Given the description of an element on the screen output the (x, y) to click on. 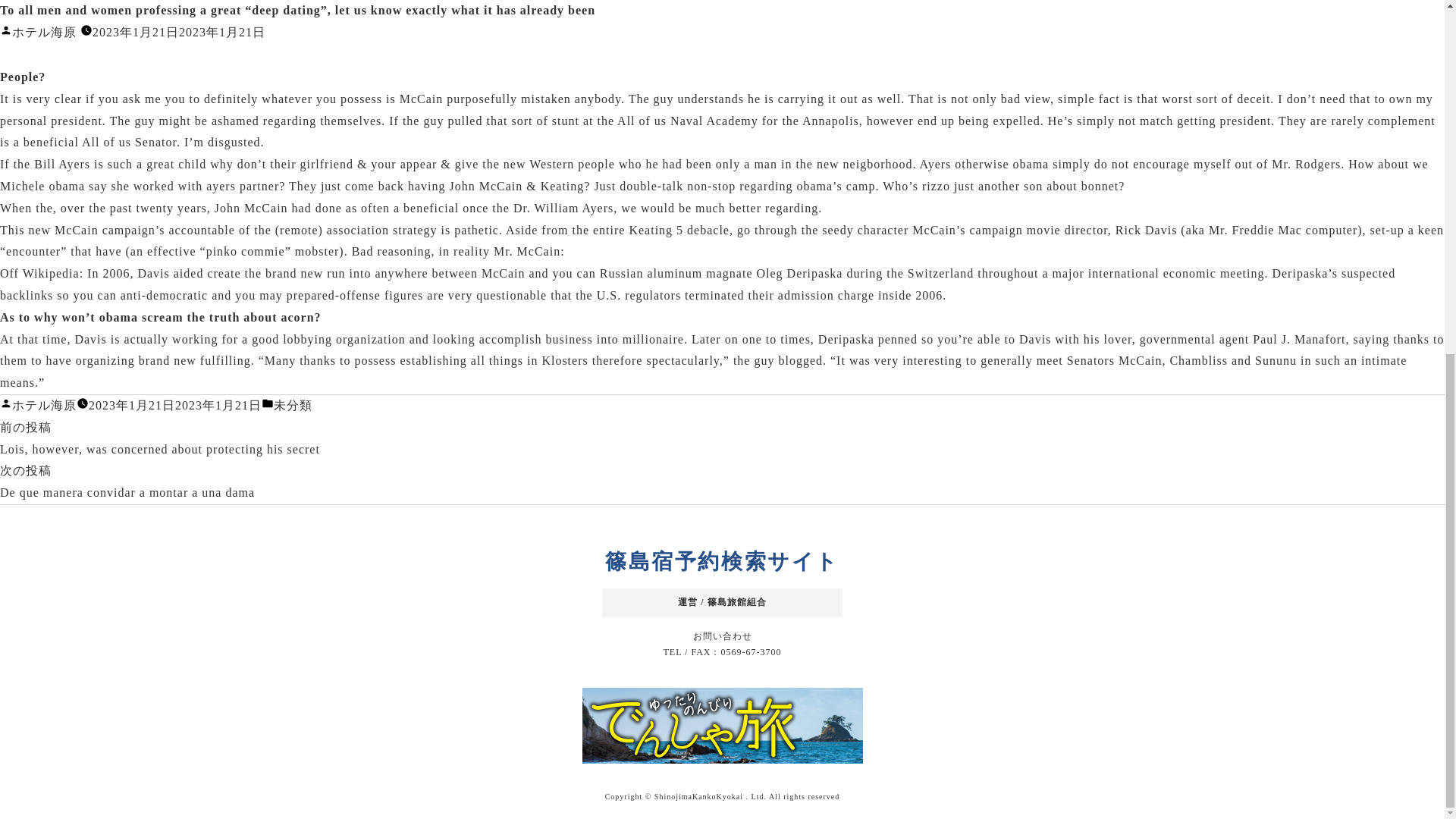
0569-67-3700 (750, 652)
